Given the description of an element on the screen output the (x, y) to click on. 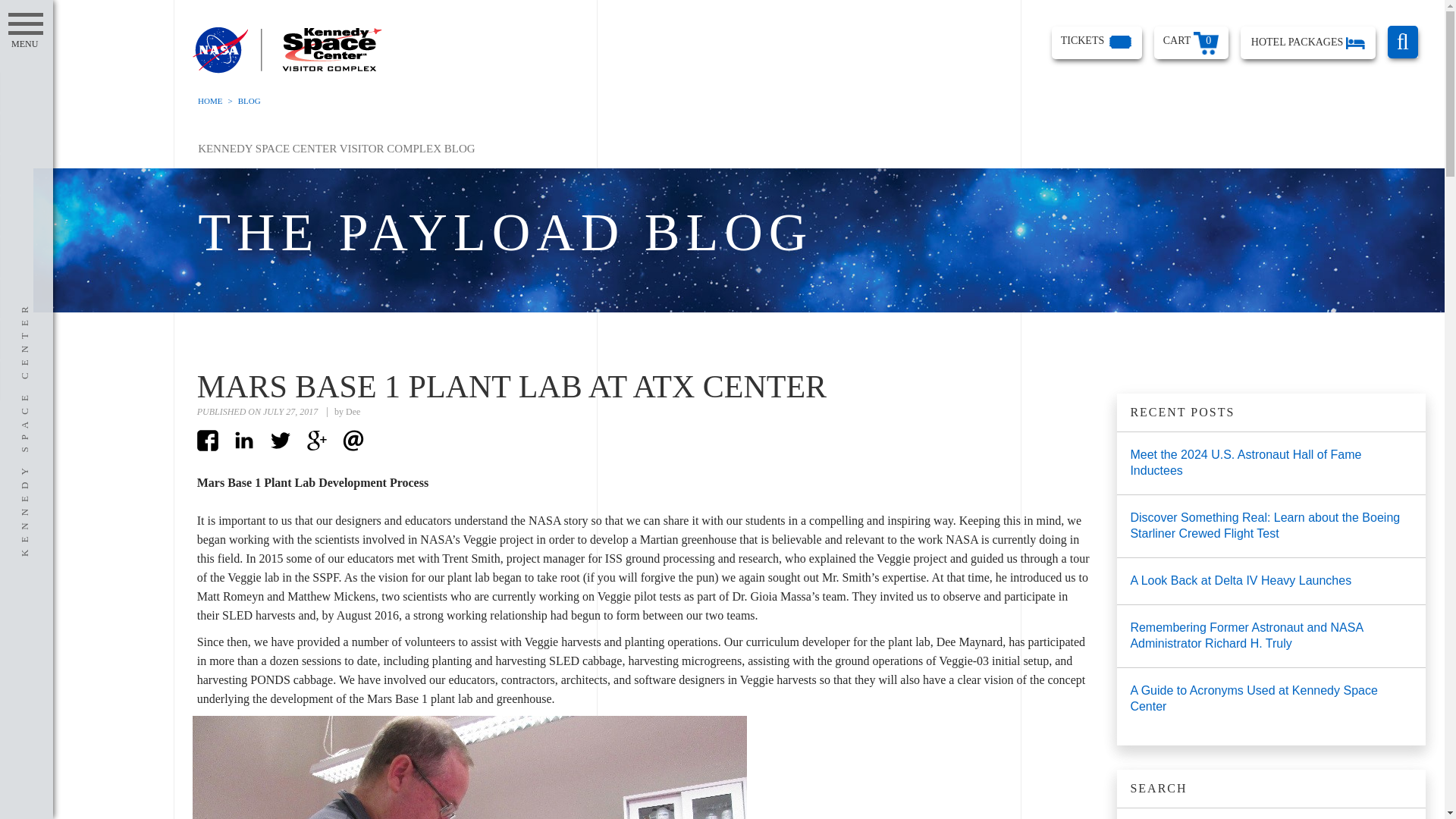
search (1402, 41)
Search (1393, 816)
